Given the description of an element on the screen output the (x, y) to click on. 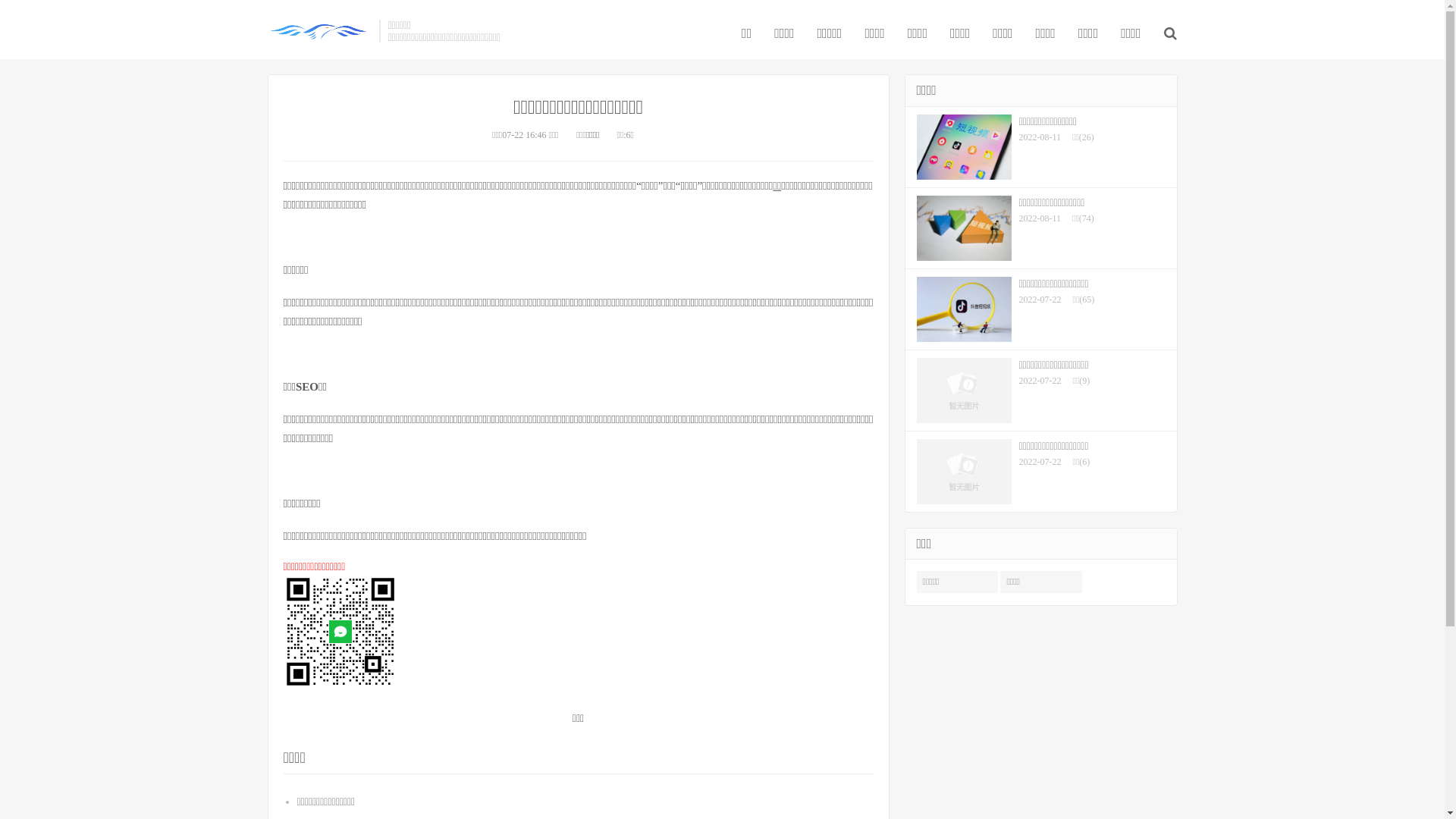
logo Element type: text (318, 30)
